Given the description of an element on the screen output the (x, y) to click on. 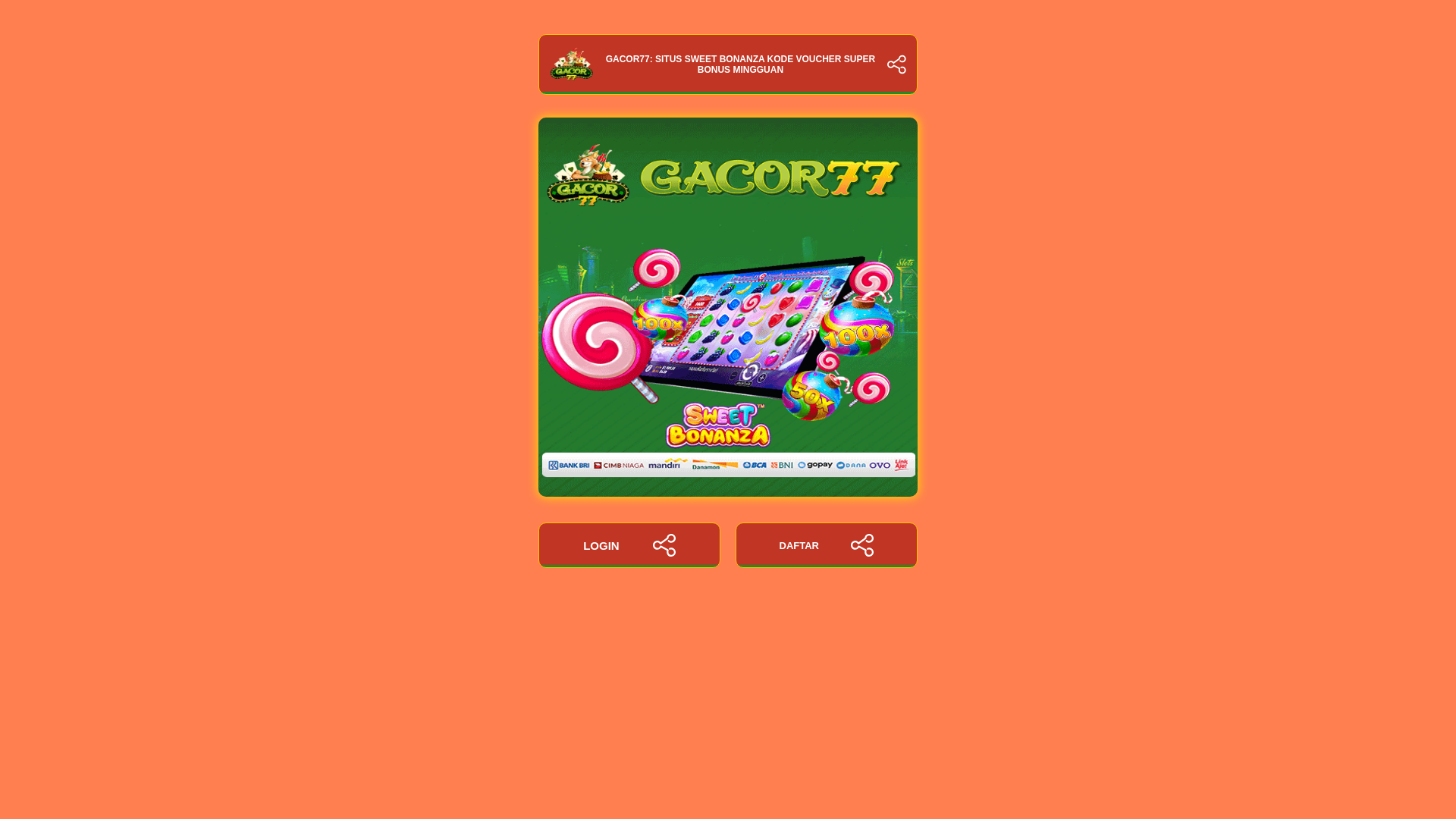
LOGIN (629, 545)
DAFTAR (826, 545)
